Given the description of an element on the screen output the (x, y) to click on. 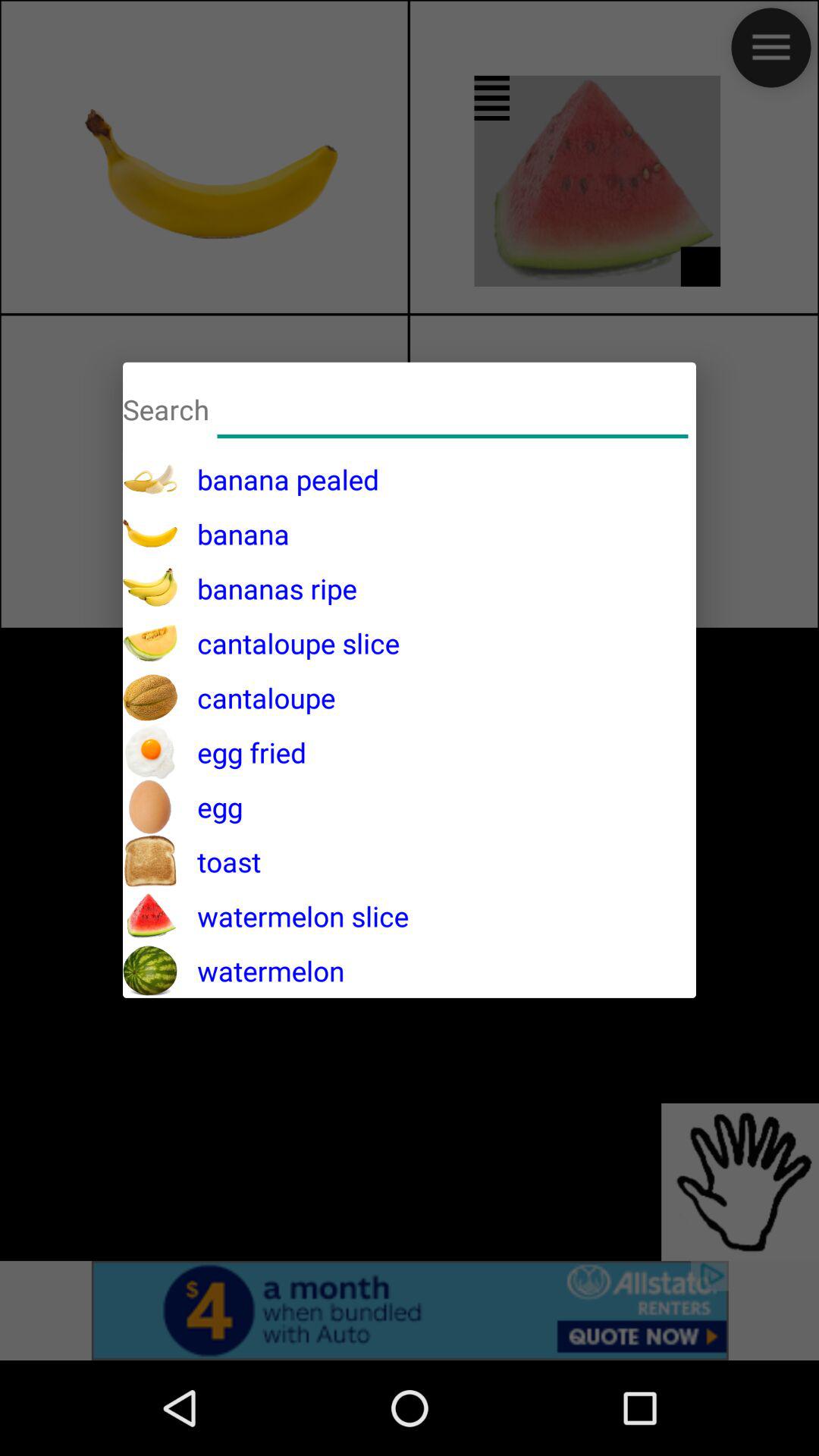
turn off egg fried icon (241, 752)
